Given the description of an element on the screen output the (x, y) to click on. 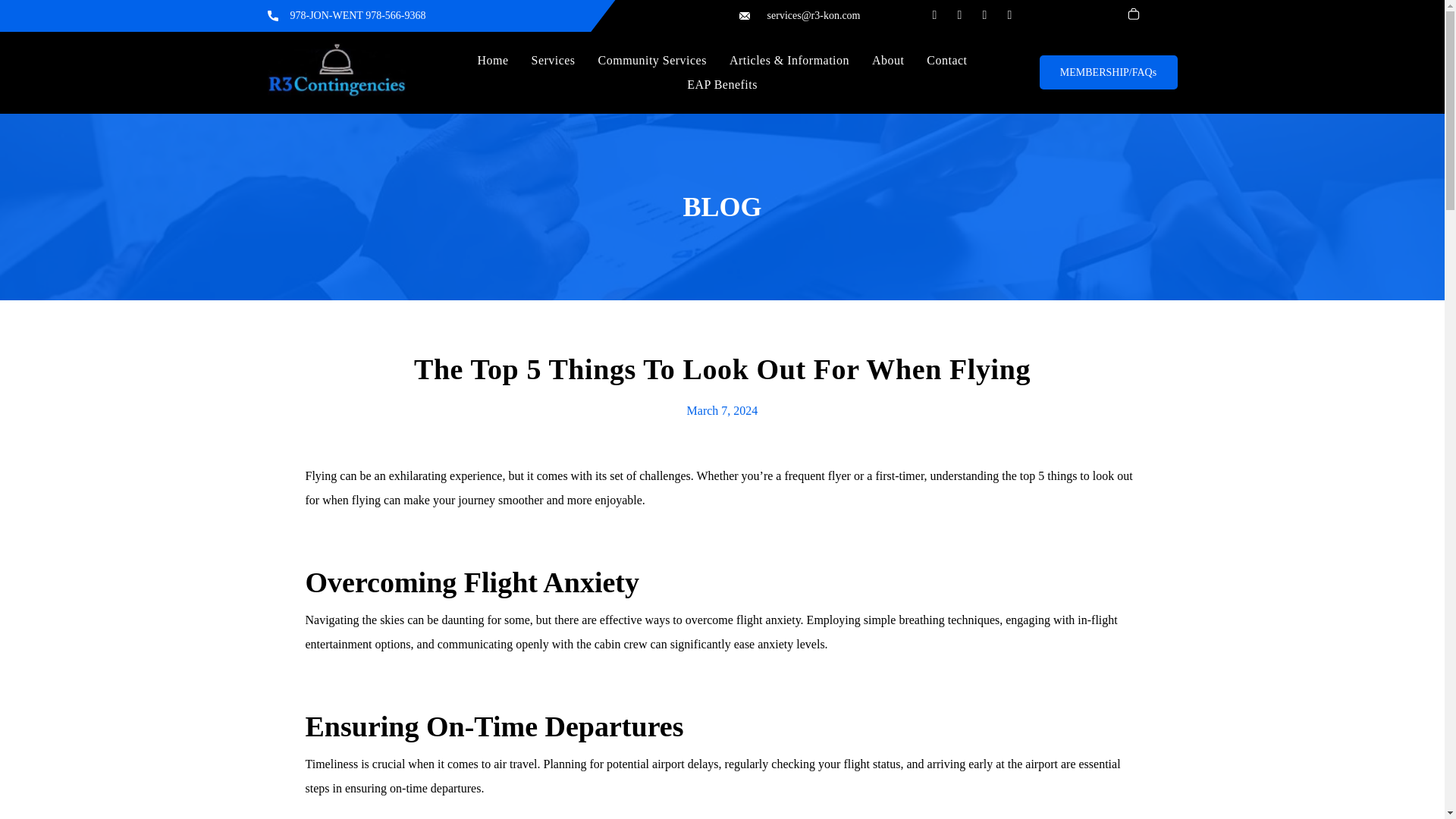
About (887, 60)
Services (552, 60)
Home (492, 60)
EAP Benefits (721, 84)
978-566-9368 (395, 15)
Community Services (651, 60)
Contact (946, 60)
